Given the description of an element on the screen output the (x, y) to click on. 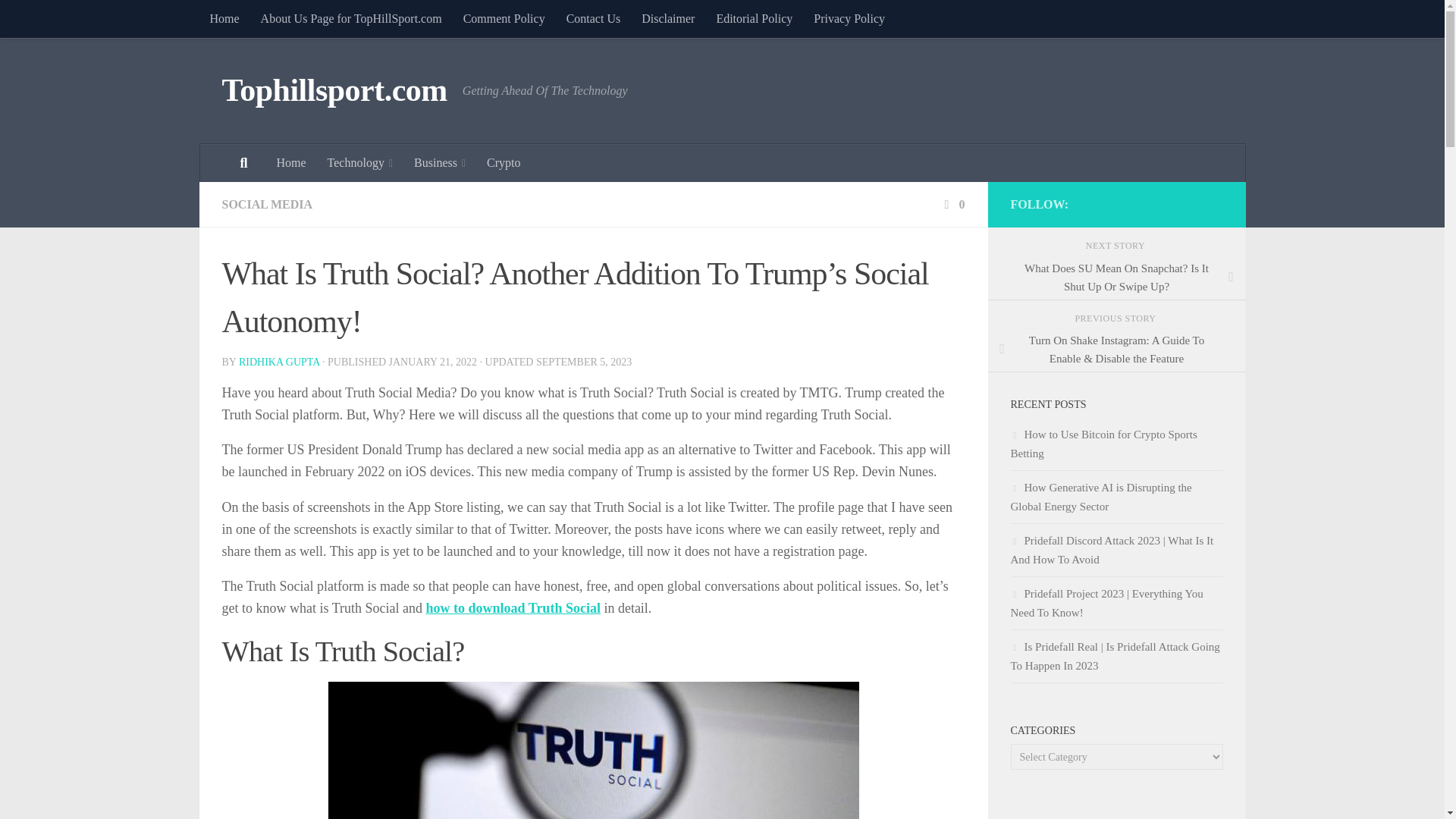
Home (223, 18)
Privacy Policy (849, 18)
Business (439, 162)
Skip to content (59, 20)
Disclaimer (667, 18)
Contact Us (593, 18)
Comment Policy (504, 18)
Home (289, 162)
Editorial Policy (753, 18)
Crypto (503, 162)
Technology (360, 162)
About Us Page for TopHillSport.com (351, 18)
Posts by Ridhika Gupta (279, 361)
Tophillsport.com (333, 90)
